Given the description of an element on the screen output the (x, y) to click on. 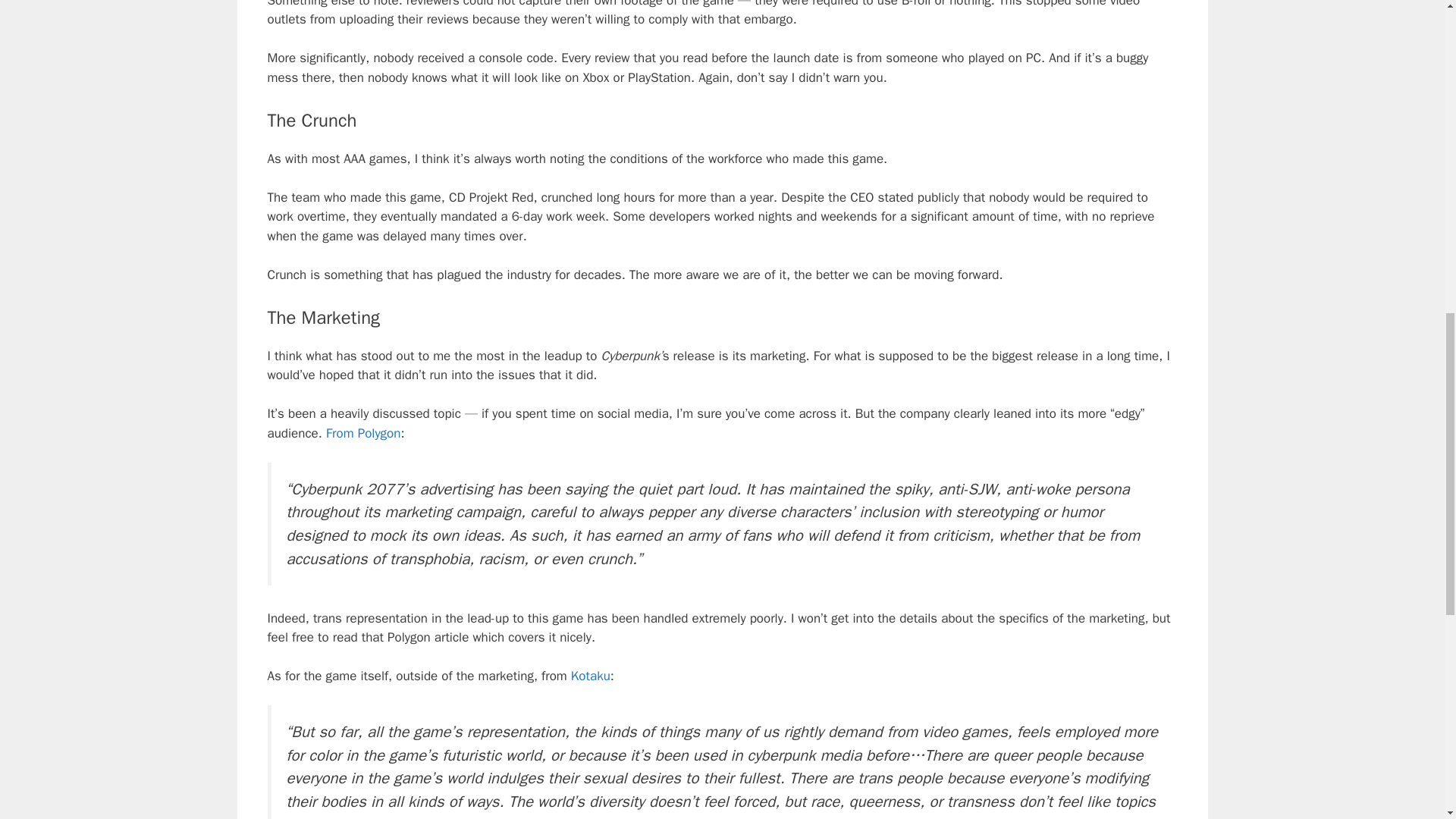
From Polygon (363, 433)
Kotaku (590, 675)
